Given the description of an element on the screen output the (x, y) to click on. 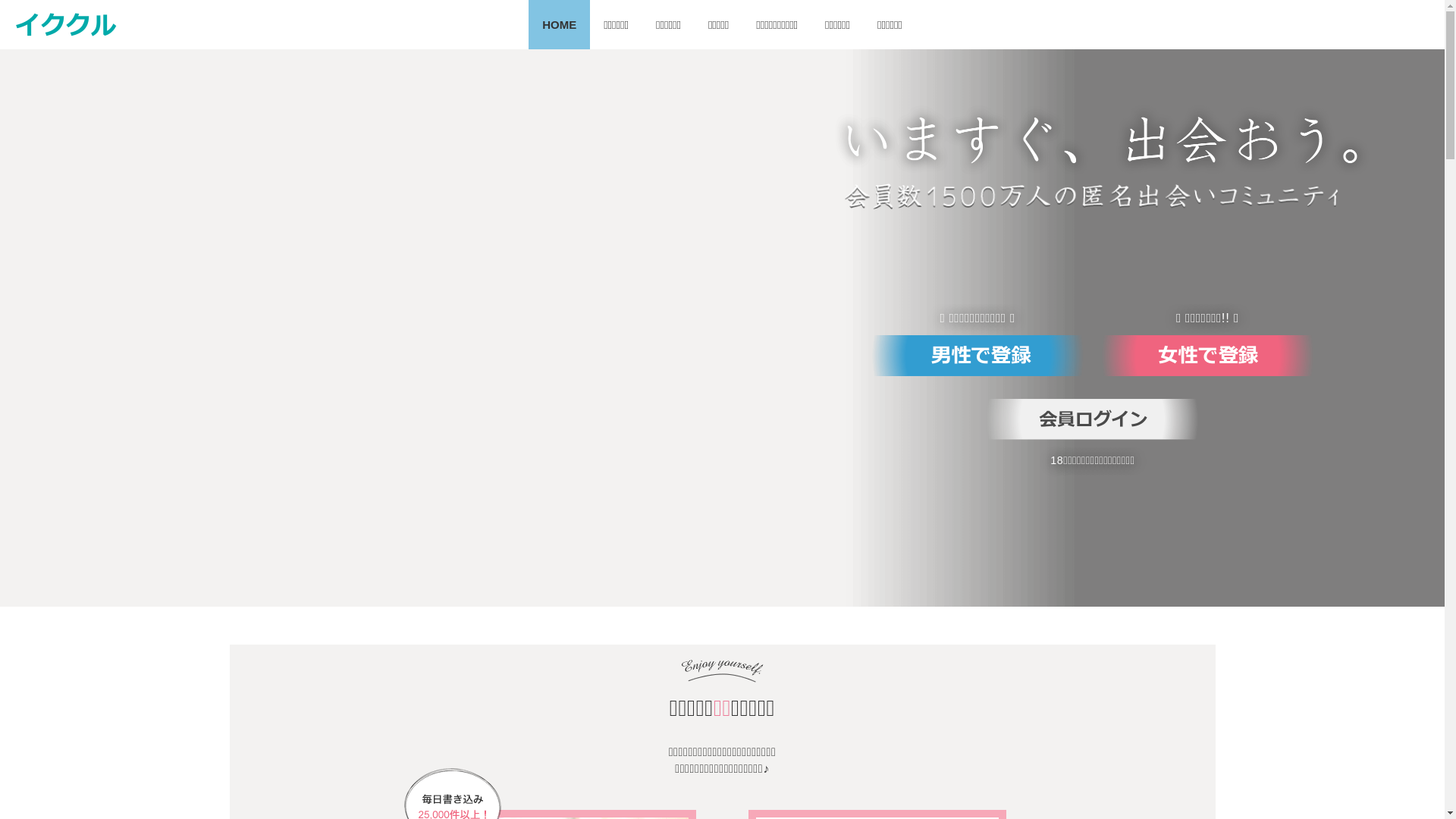
HOME Element type: text (558, 24)
